Given the description of an element on the screen output the (x, y) to click on. 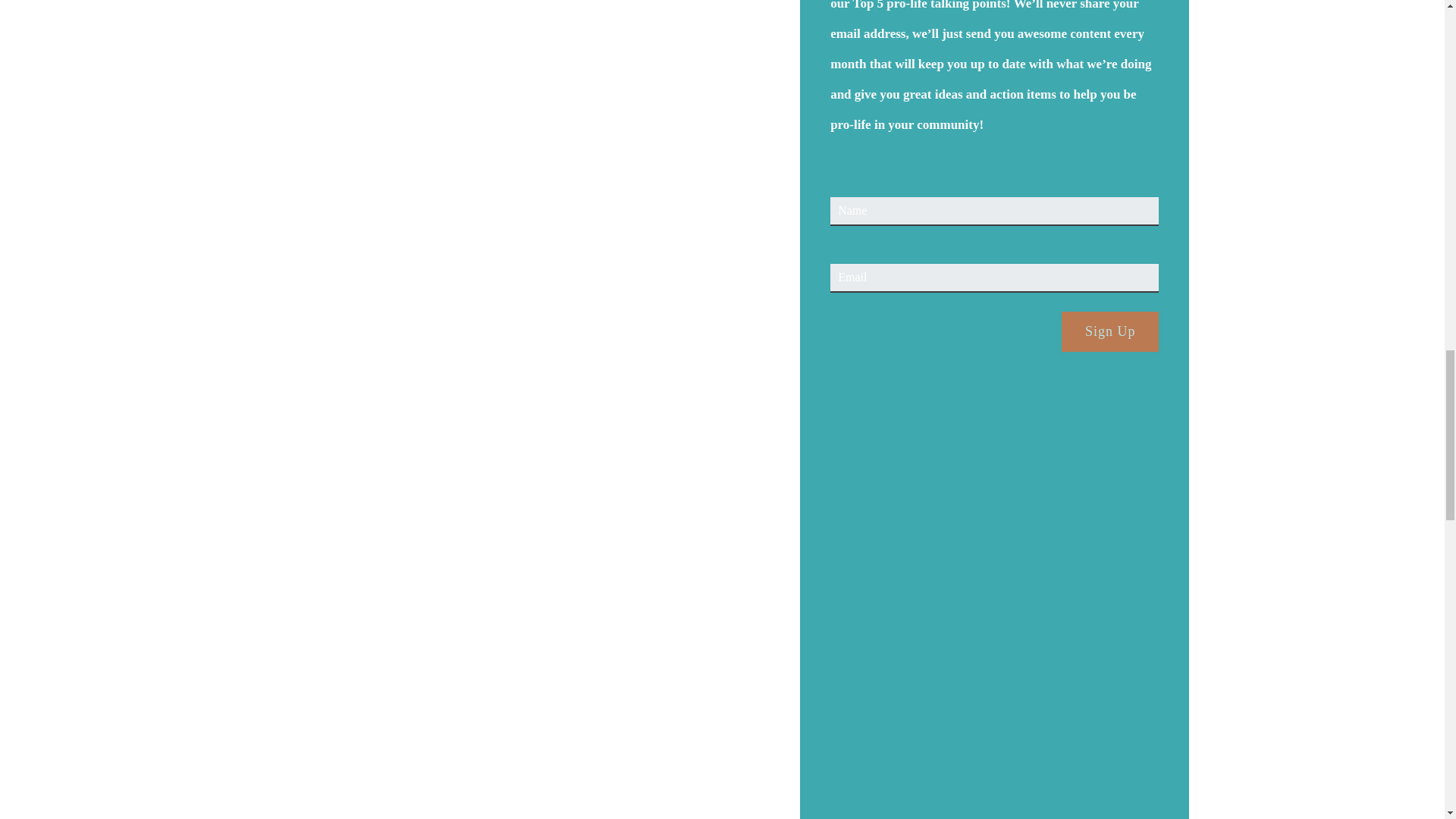
Sign Up (1109, 332)
